Given the description of an element on the screen output the (x, y) to click on. 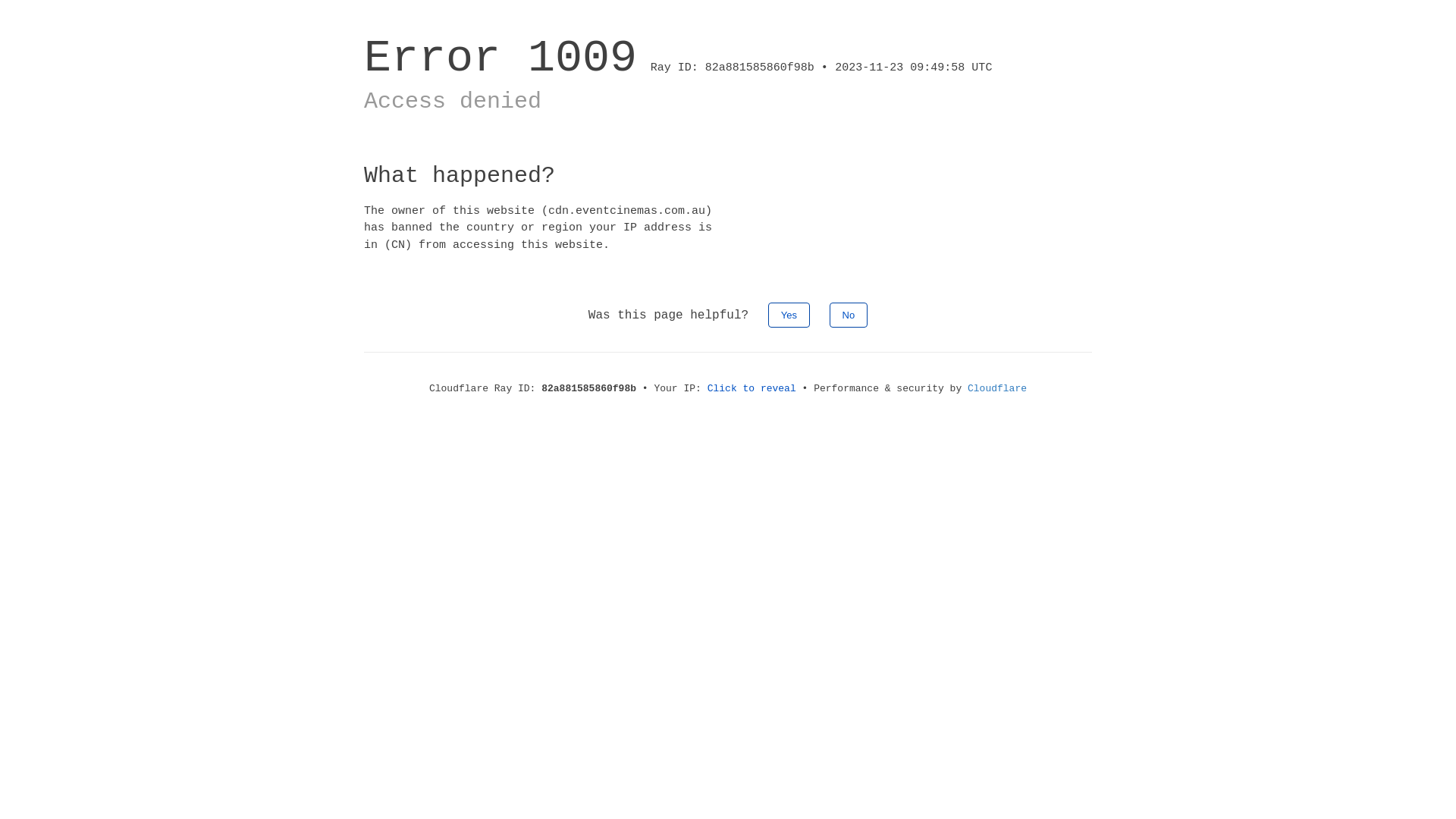
Yes Element type: text (788, 314)
Cloudflare Element type: text (996, 388)
Click to reveal Element type: text (751, 388)
No Element type: text (848, 314)
